Given the description of an element on the screen output the (x, y) to click on. 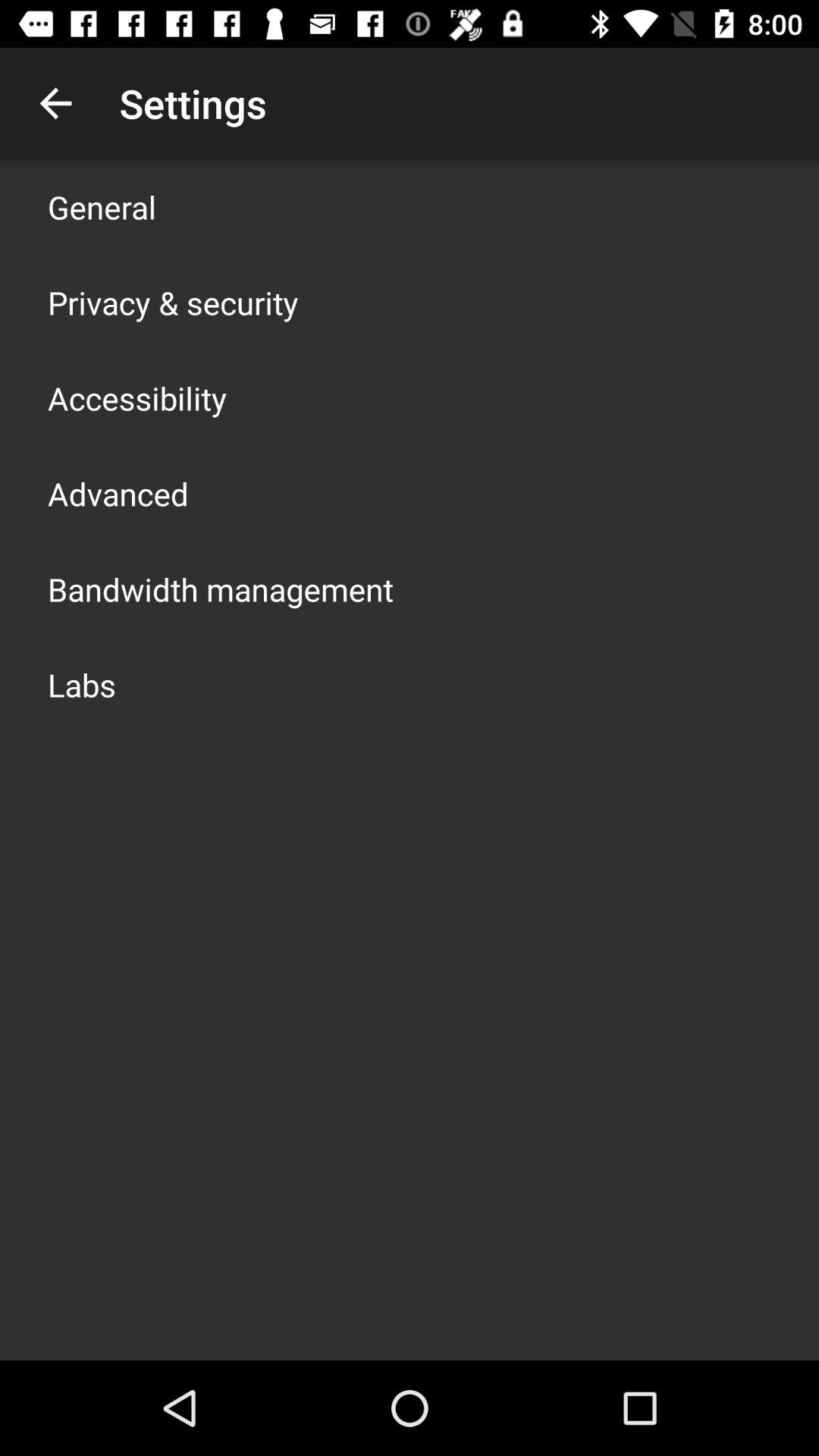
tap the item above general icon (55, 103)
